Given the description of an element on the screen output the (x, y) to click on. 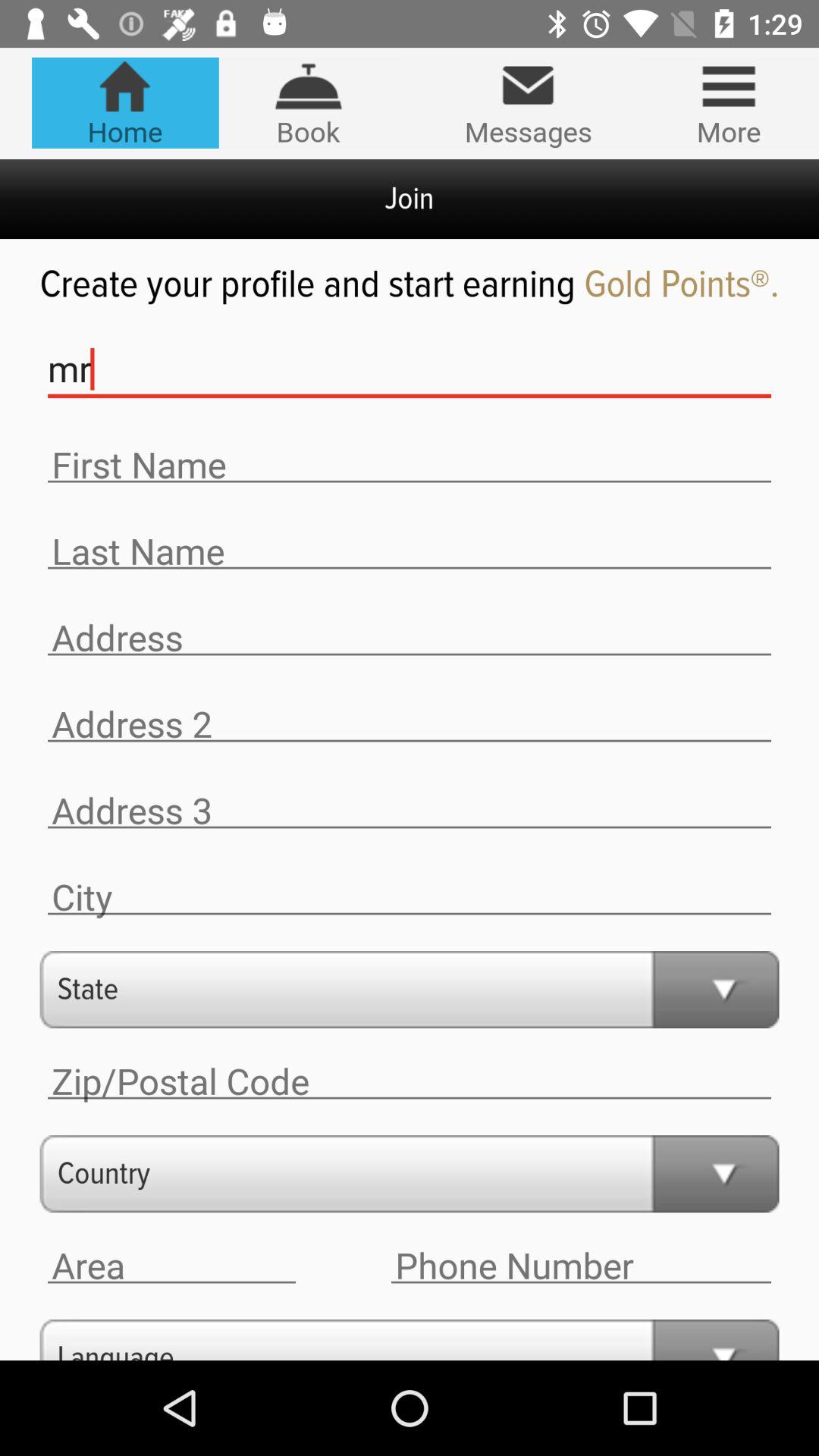
enter last name (409, 551)
